Given the description of an element on the screen output the (x, y) to click on. 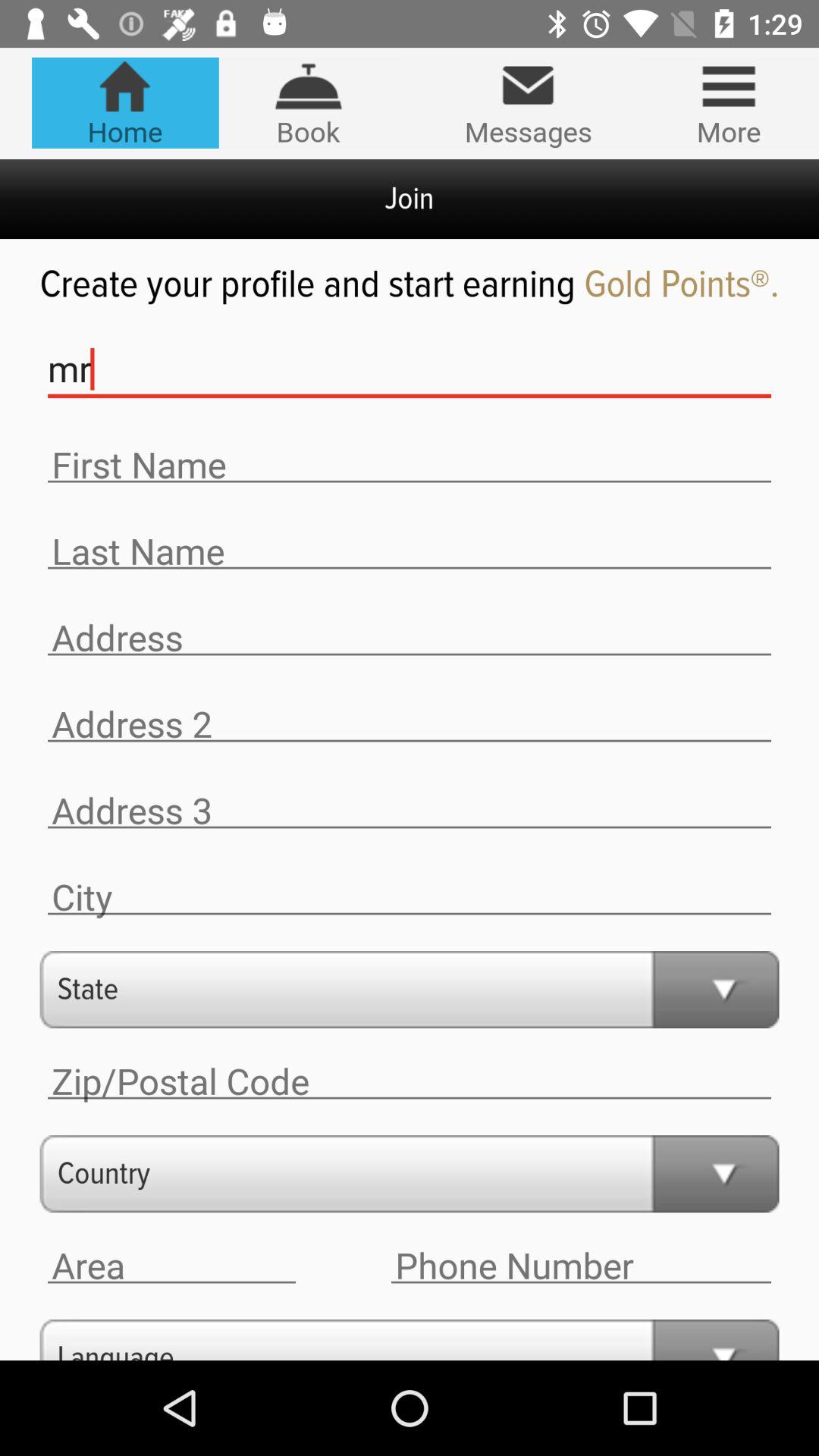
enter last name (409, 551)
